Given the description of an element on the screen output the (x, y) to click on. 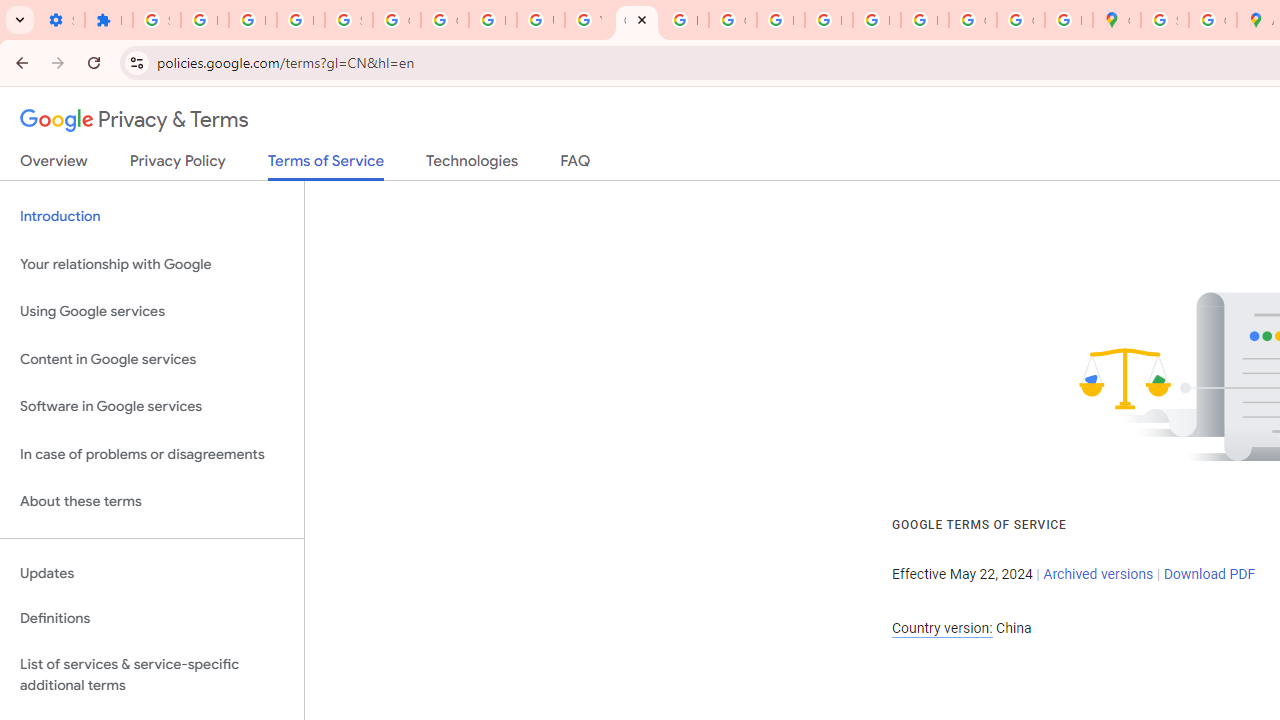
Software in Google services (152, 407)
Extensions (108, 20)
Create your Google Account (1212, 20)
Google Maps (1116, 20)
Sign in - Google Accounts (348, 20)
Your relationship with Google (152, 263)
About these terms (152, 502)
Sign in - Google Accounts (1164, 20)
https://scholar.google.com/ (684, 20)
Introduction (152, 216)
